Given the description of an element on the screen output the (x, y) to click on. 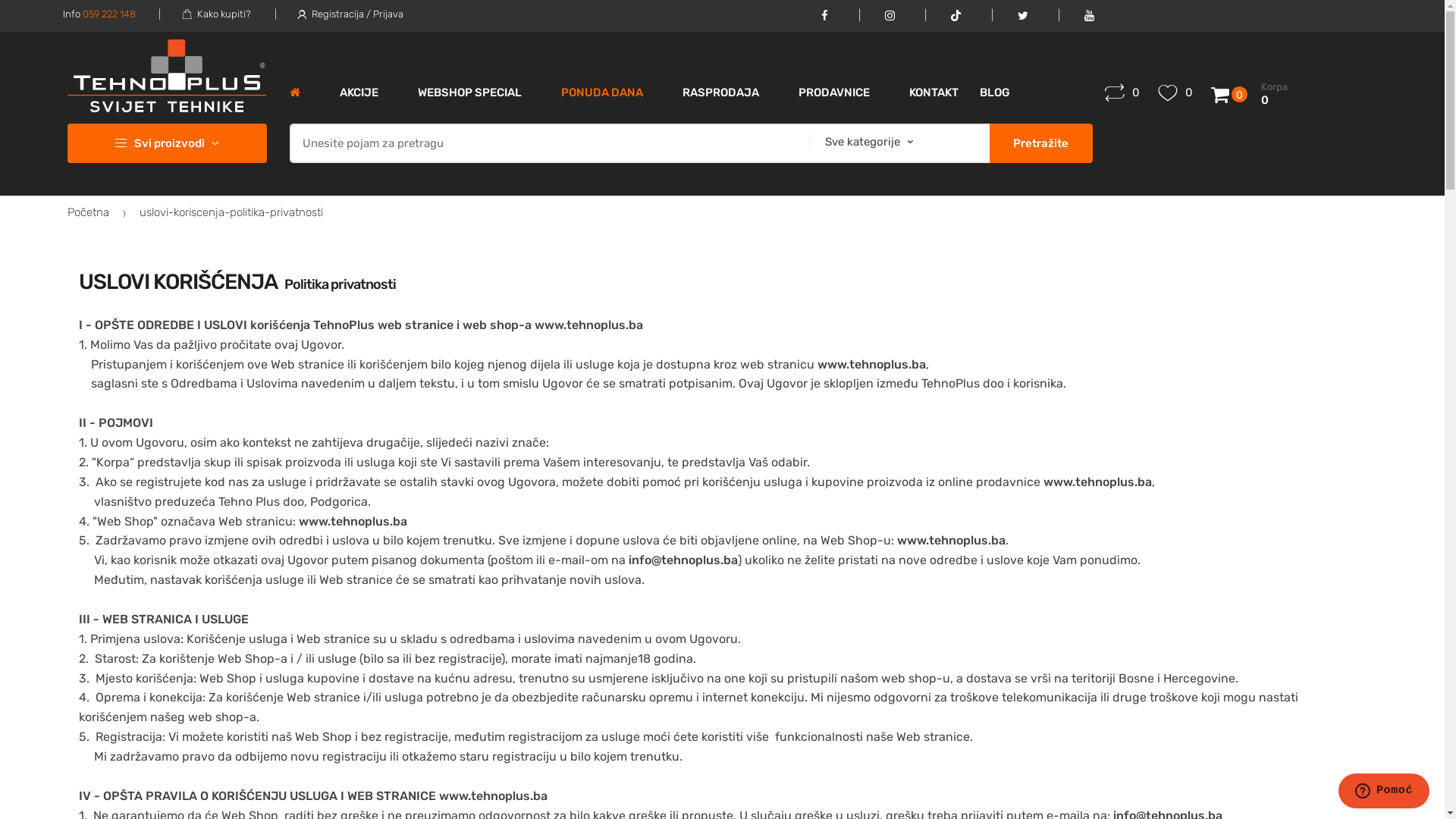
0 Element type: text (1121, 93)
RASPRODAJA Element type: text (720, 92)
Kako kupiti? Element type: text (194, 13)
Registracija / Prijava Element type: text (328, 13)
PONUDA DANA Element type: text (602, 92)
AKCIJE Element type: text (358, 92)
0 Element type: text (1174, 93)
PRODAVNICE Element type: text (833, 92)
KONTAKT Element type: text (933, 92)
Home Element type: hover (294, 92)
BLOG Element type: text (994, 92)
0
Korpa
0 Element type: text (1214, 94)
Svi proizvodi Element type: text (166, 143)
059 222 148 Element type: text (107, 13)
WEBSHOP SPECIAL Element type: text (469, 92)
